Given the description of an element on the screen output the (x, y) to click on. 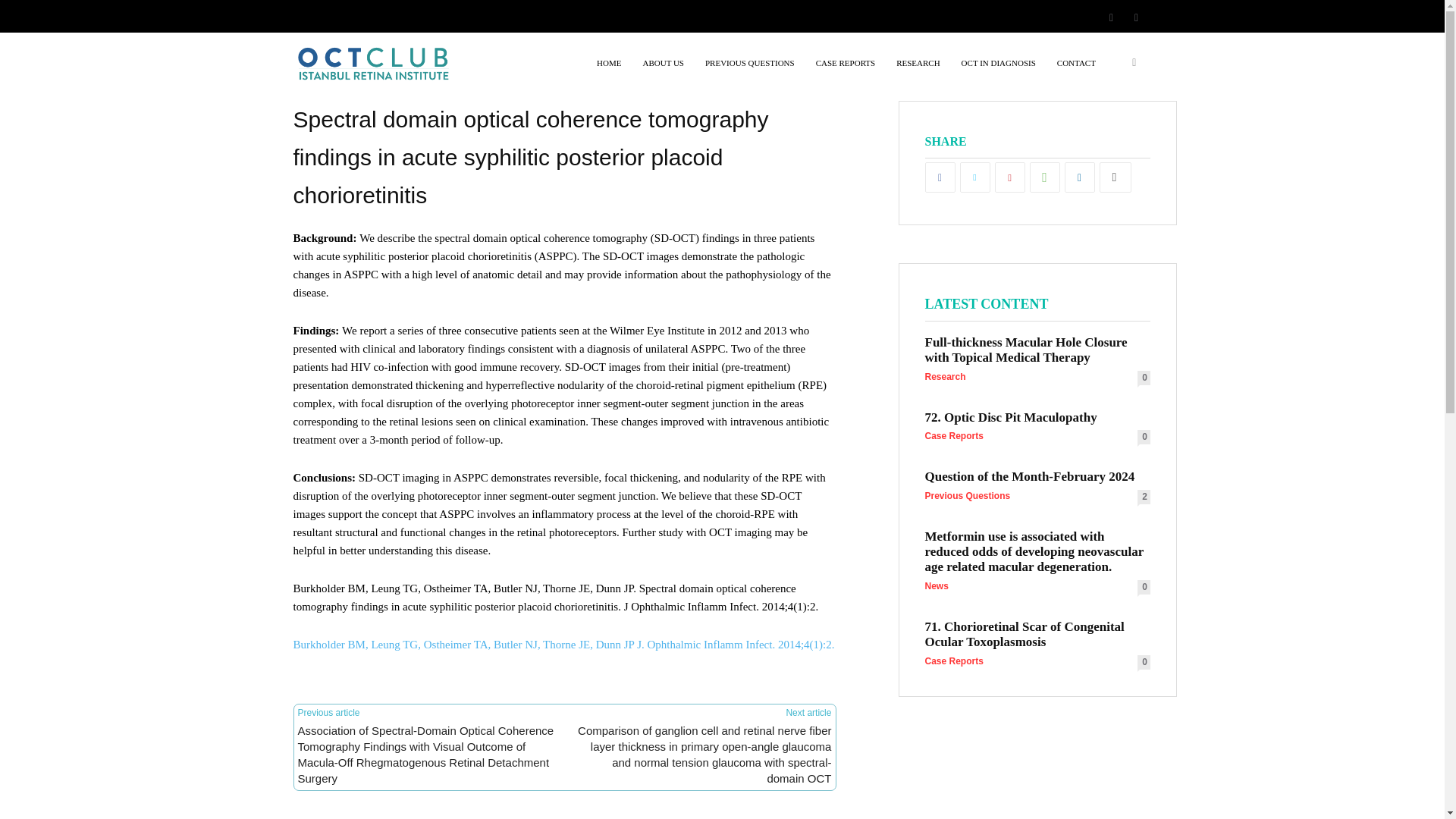
HOME (608, 62)
RESEARCH (917, 62)
CASE REPORTS (845, 62)
CONTACT (1076, 62)
OCT IN DIAGNOSIS (998, 62)
ABOUT US (662, 62)
PREVIOUS QUESTIONS (749, 62)
